Given the description of an element on the screen output the (x, y) to click on. 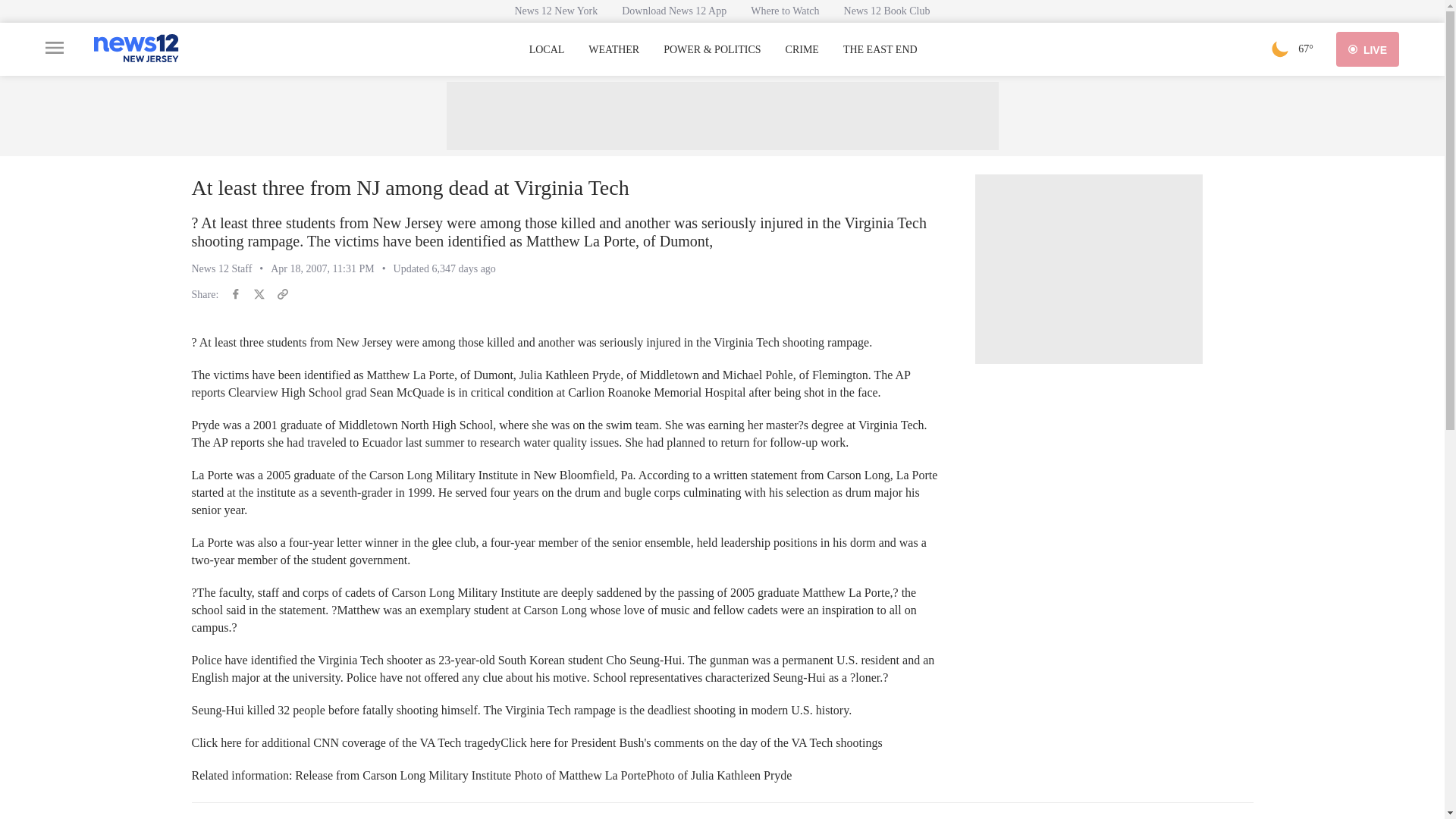
LIVE (1367, 48)
Download News 12 App (673, 11)
LOCAL (546, 49)
Where to Watch (784, 11)
Clear (1280, 48)
News 12 New York (556, 11)
CRIME (802, 49)
WEATHER (613, 49)
News 12 Book Club (886, 11)
THE EAST END (880, 49)
